Given the description of an element on the screen output the (x, y) to click on. 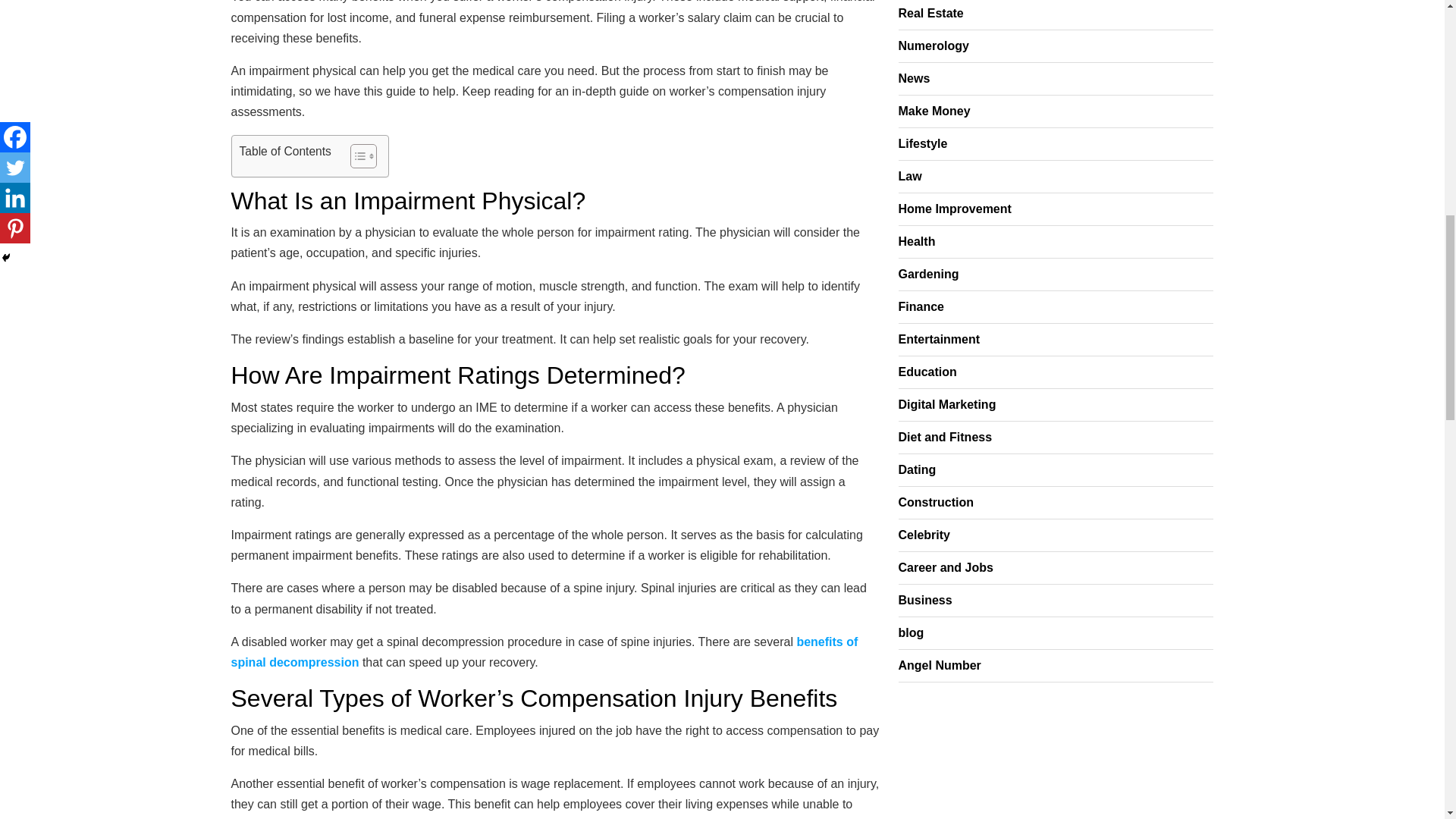
benefits of spinal decompression (543, 652)
